Given the description of an element on the screen output the (x, y) to click on. 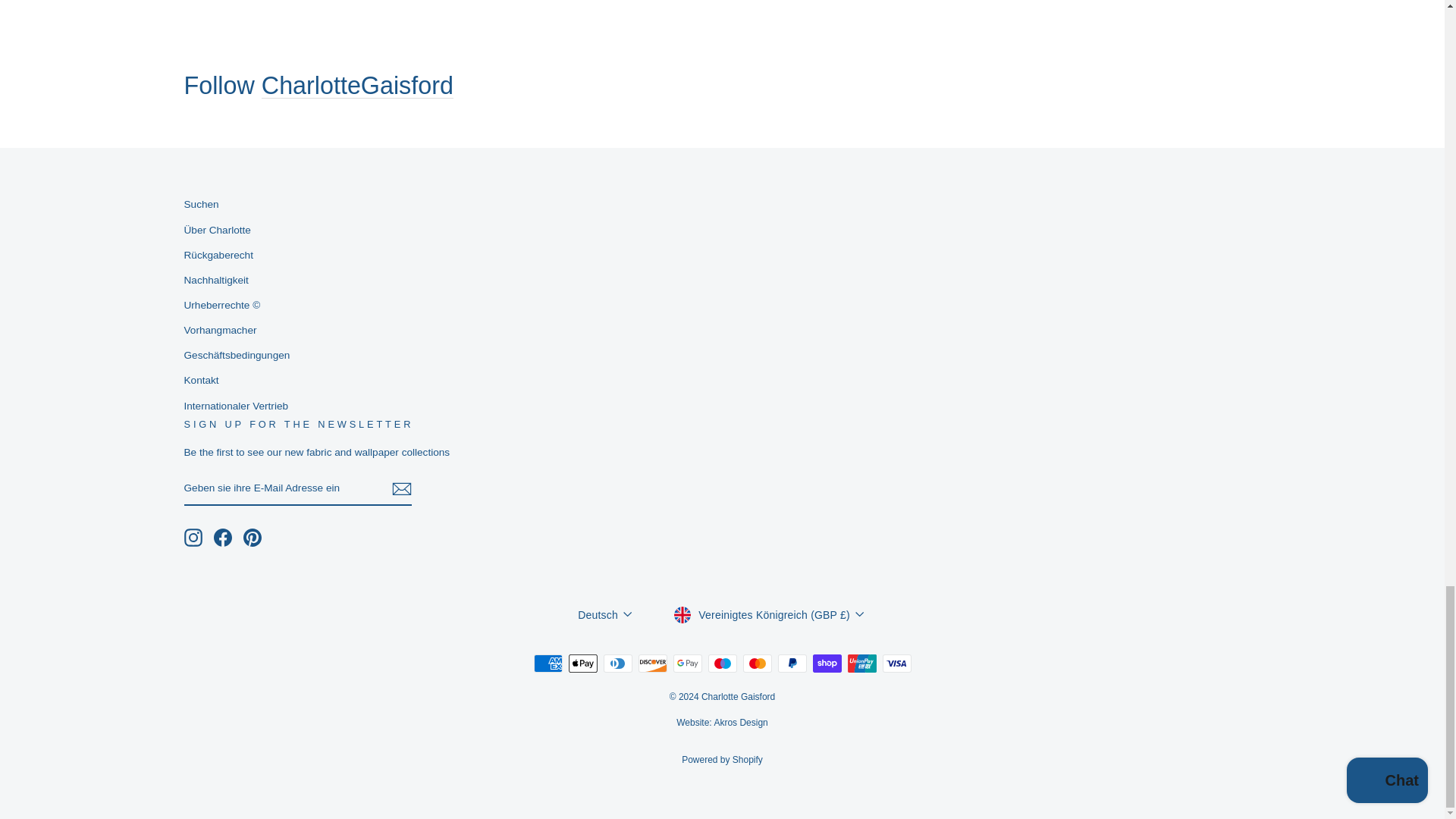
American Express (548, 663)
icon-email (400, 488)
Charlotte Gaisford auf Facebook (222, 537)
Charlotte Gaisford auf Instagram (192, 537)
instagram (192, 537)
Charlotte Gaisford auf Pinterest (251, 537)
